Given the description of an element on the screen output the (x, y) to click on. 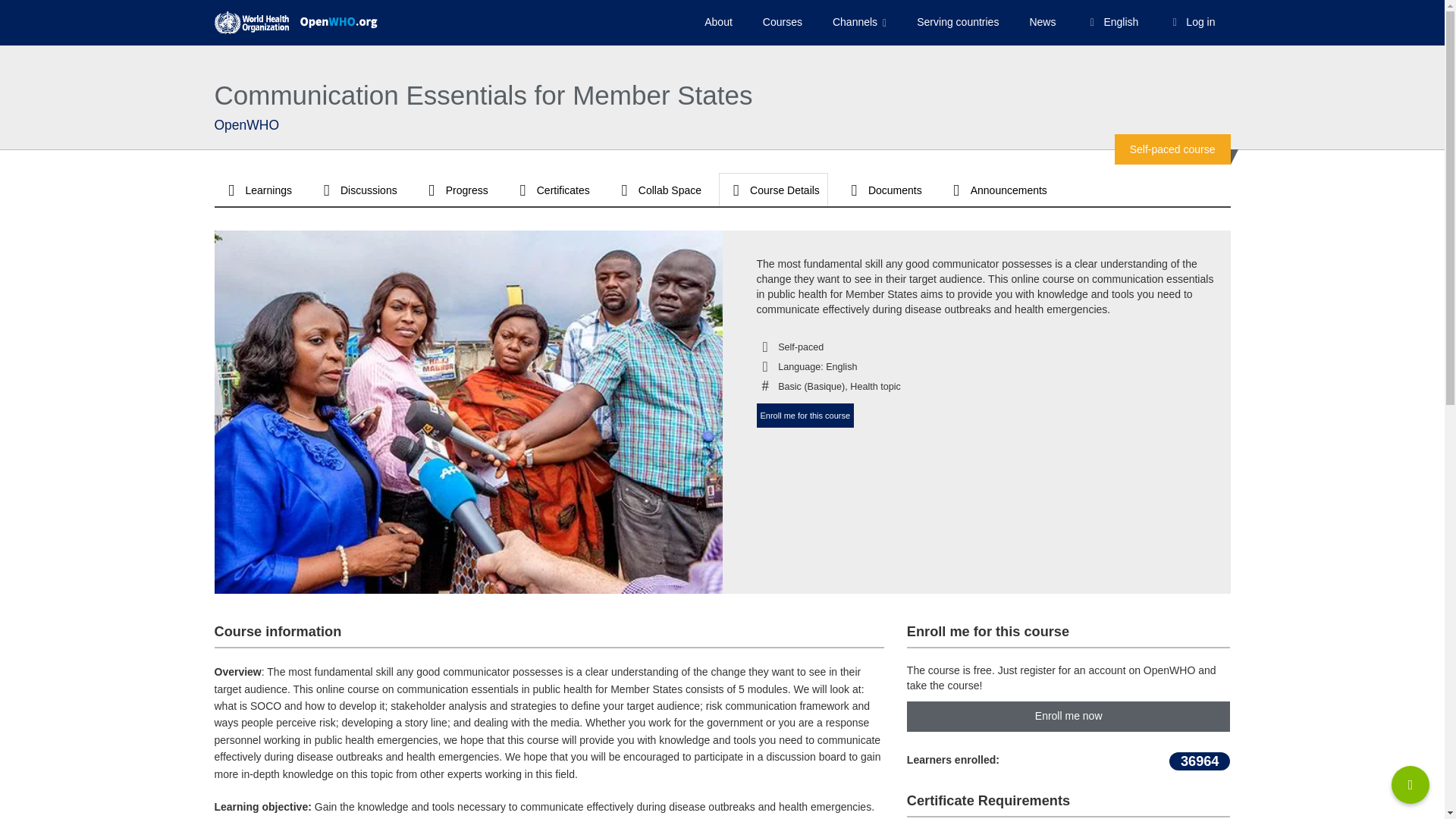
Helpdesk (1410, 784)
